Given the description of an element on the screen output the (x, y) to click on. 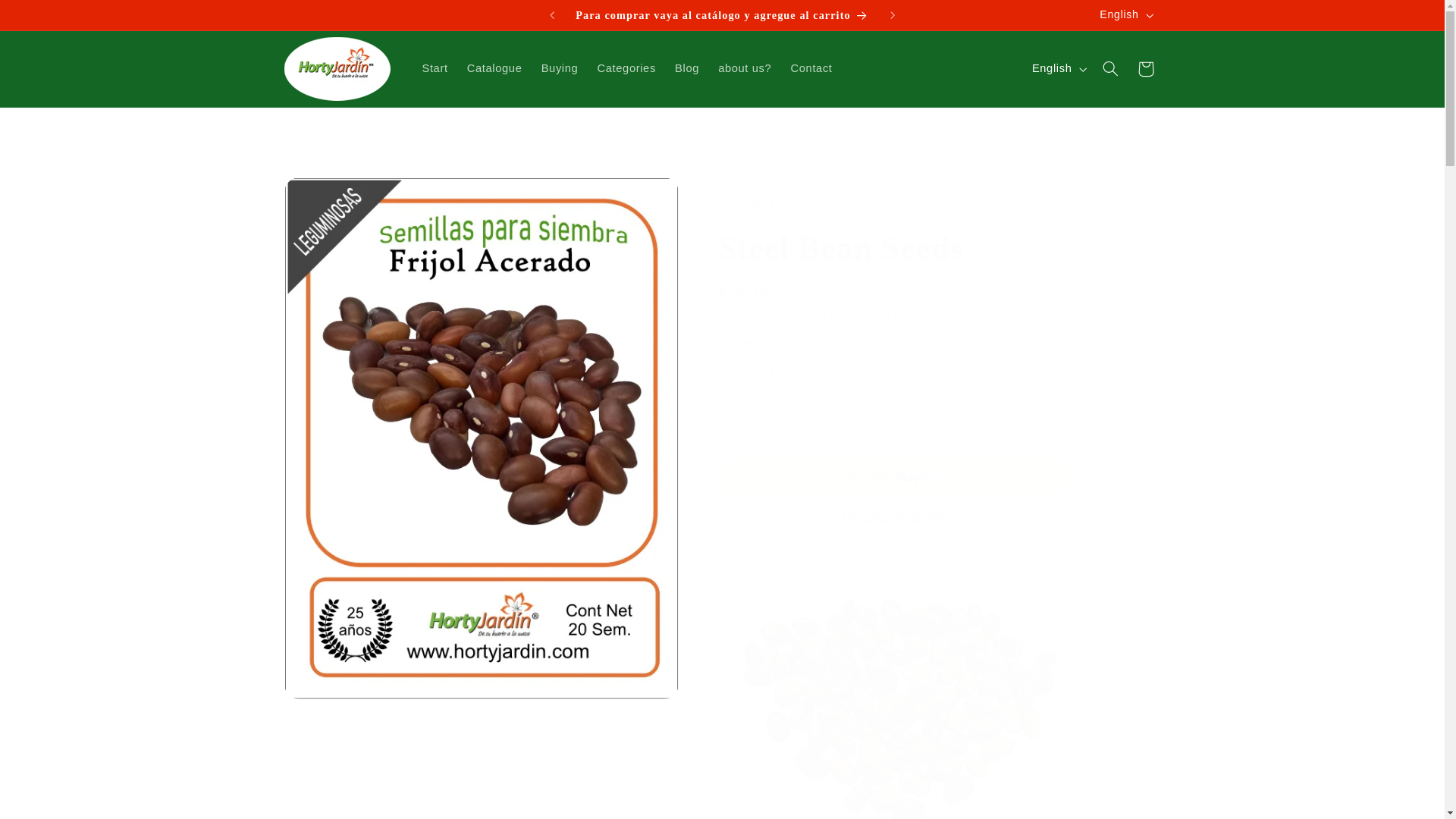
Categories (626, 68)
Cart (1145, 68)
Skip to product information (331, 194)
about us? (744, 68)
English (1057, 69)
Start (434, 68)
Blog (686, 68)
Buying (559, 68)
Catalogue (494, 68)
English (1125, 15)
Skip to content (48, 18)
1 (771, 374)
Contact (810, 68)
